Given the description of an element on the screen output the (x, y) to click on. 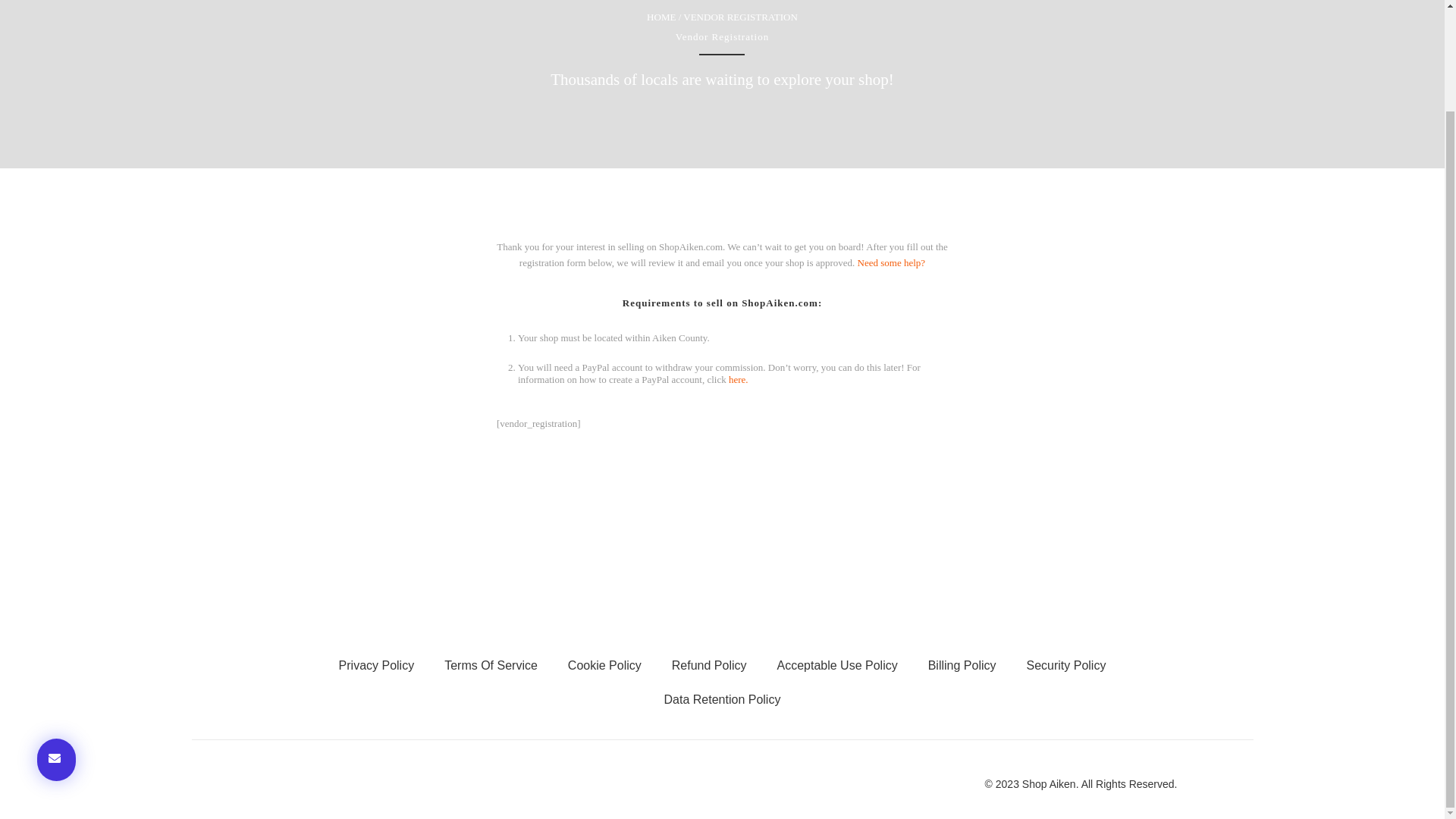
Need some help? (891, 262)
HOME (660, 16)
Refund Policy (708, 665)
Privacy Policy (376, 665)
Data Retention Policy (722, 699)
Security Policy (1066, 665)
Terms Of Service (491, 665)
Cookie Policy (604, 665)
Acceptable Use Policy (836, 665)
here. (738, 378)
Billing Policy (961, 665)
